Given the description of an element on the screen output the (x, y) to click on. 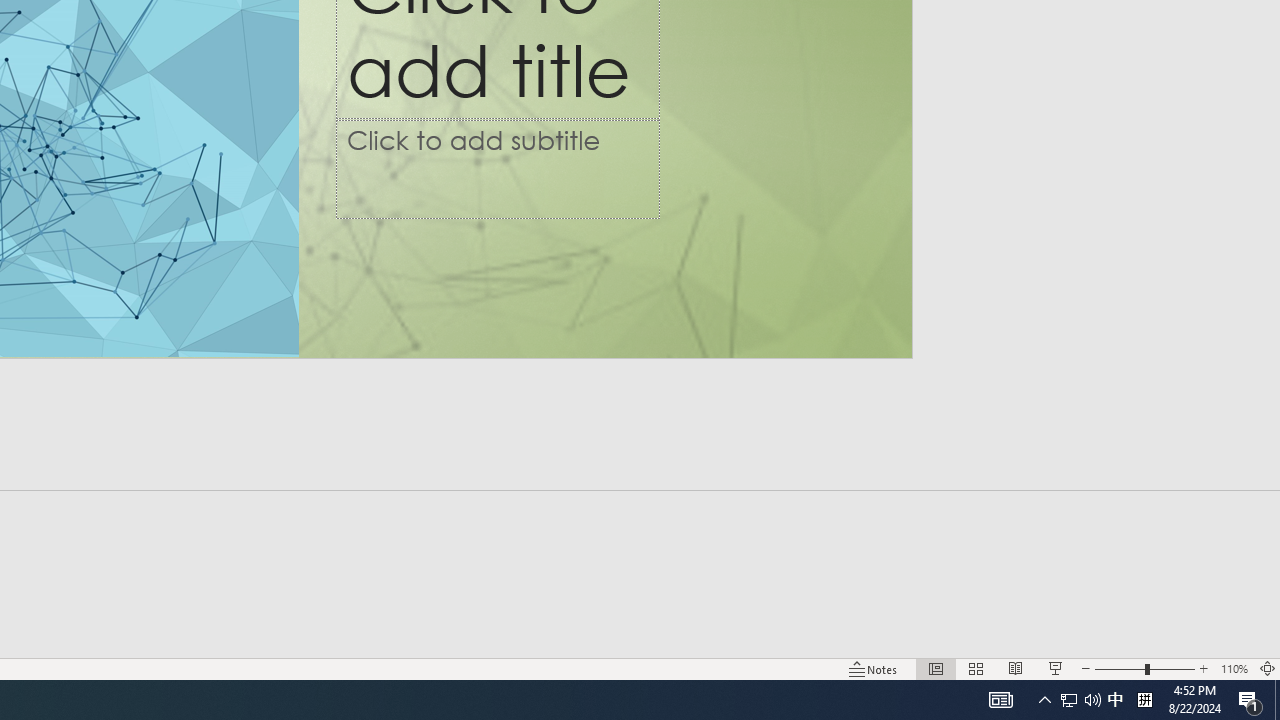
Zoom 110% (1234, 668)
